Given the description of an element on the screen output the (x, y) to click on. 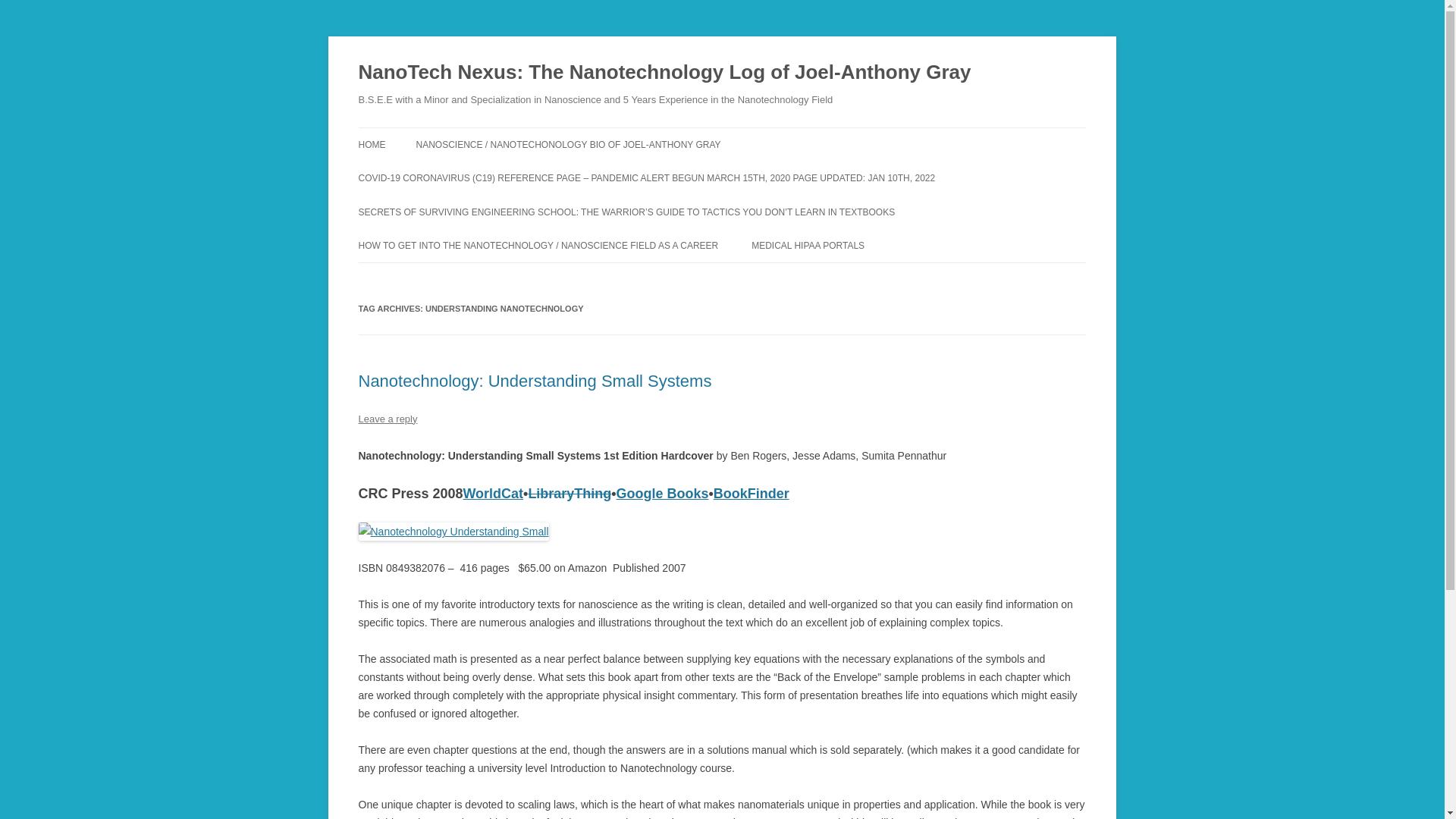
Search for the best price at BookFinder (751, 492)
View this title at WorldCat (492, 492)
Leave a reply (387, 419)
View this title at LibraryThing (569, 492)
BookFinder (751, 492)
MEDICAL HIPAA PORTALS (807, 245)
WorldCat (492, 492)
Nanotechnology: Understanding Small Systems (534, 380)
LibraryThing (569, 492)
NanoTech Nexus: The Nanotechnology Log of Joel-Anthony Gray (664, 72)
Google Books (662, 492)
View this title at Google Books (662, 492)
